Given the description of an element on the screen output the (x, y) to click on. 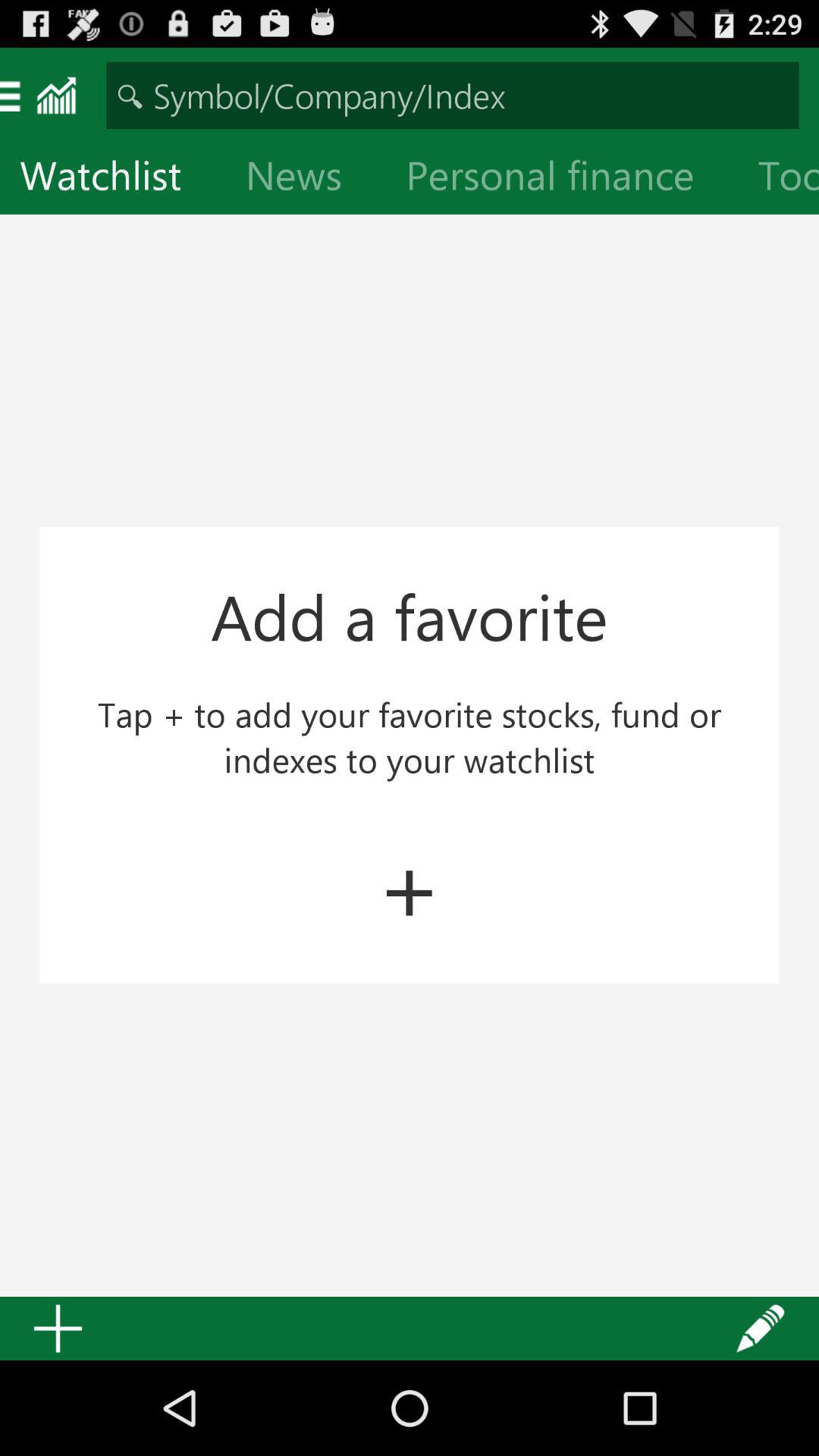
choose icon below the tap to add item (409, 885)
